Given the description of an element on the screen output the (x, y) to click on. 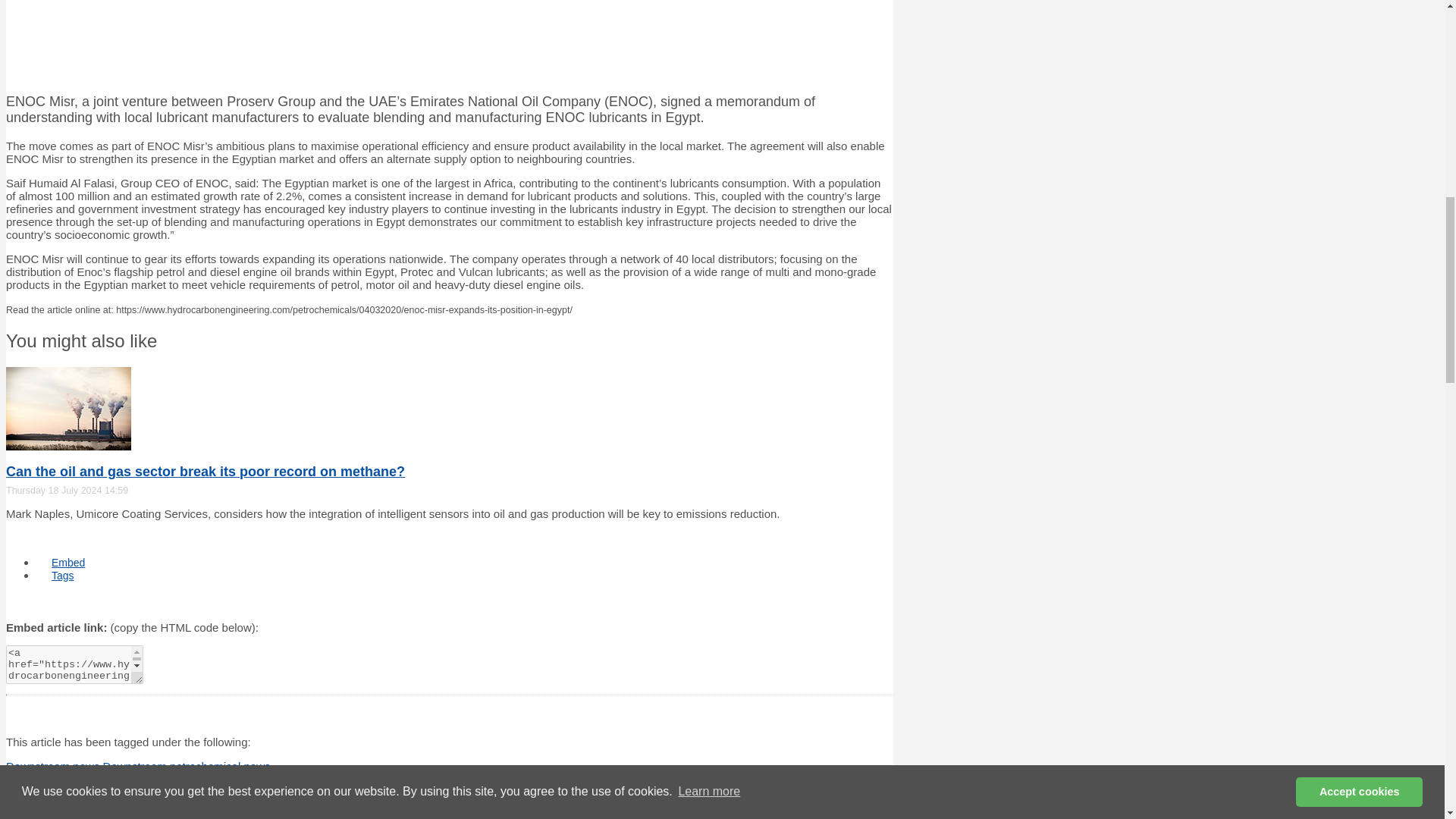
Tags (62, 574)
Embed (68, 562)
Can the oil and gas sector break its poor record on methane? (204, 471)
Downstream petrochemical news (186, 766)
3rd party ad content (449, 40)
Downstream news (54, 766)
